Given the description of an element on the screen output the (x, y) to click on. 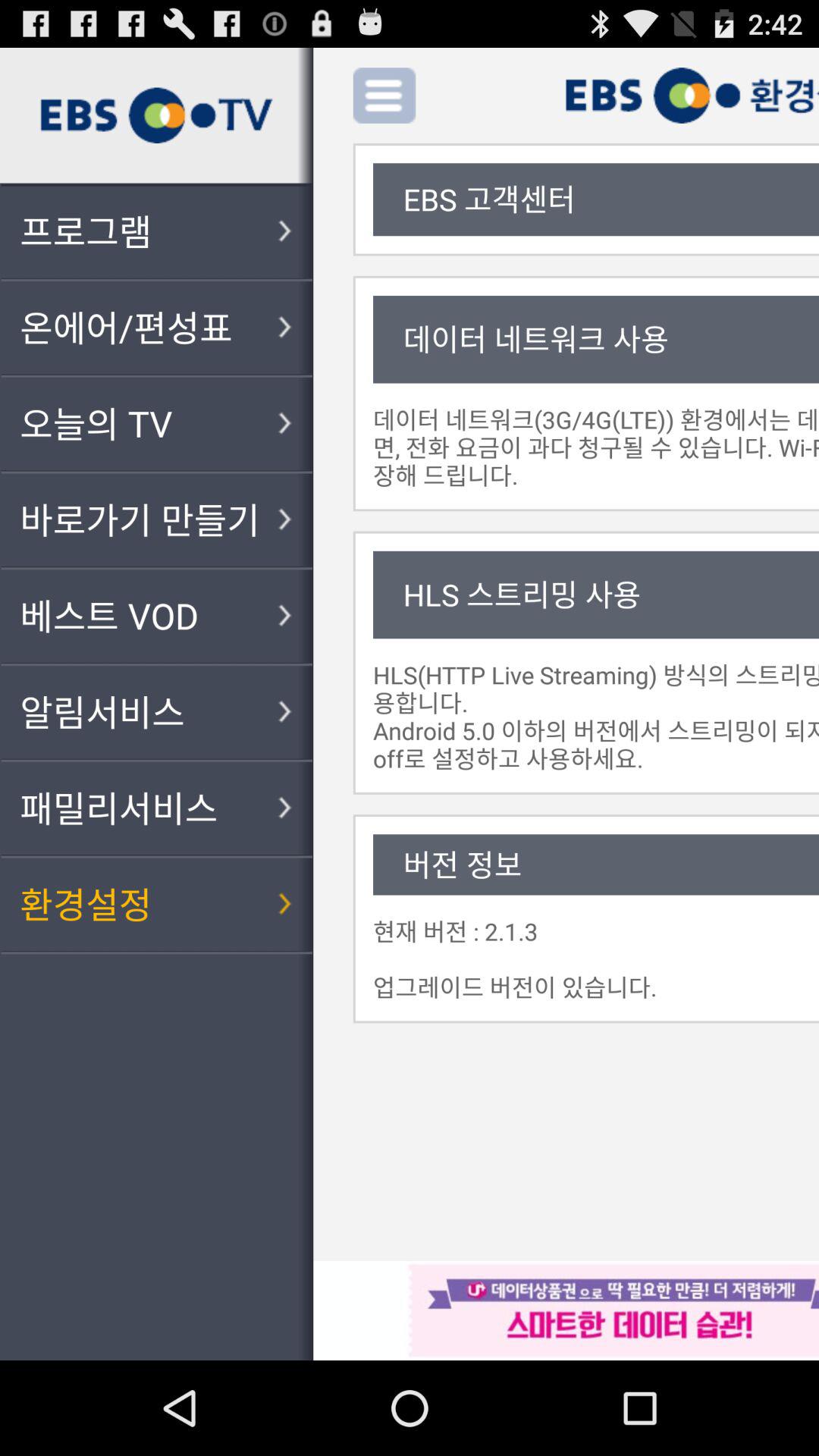
click on the right top logo under the notification bar (692, 94)
